Given the description of an element on the screen output the (x, y) to click on. 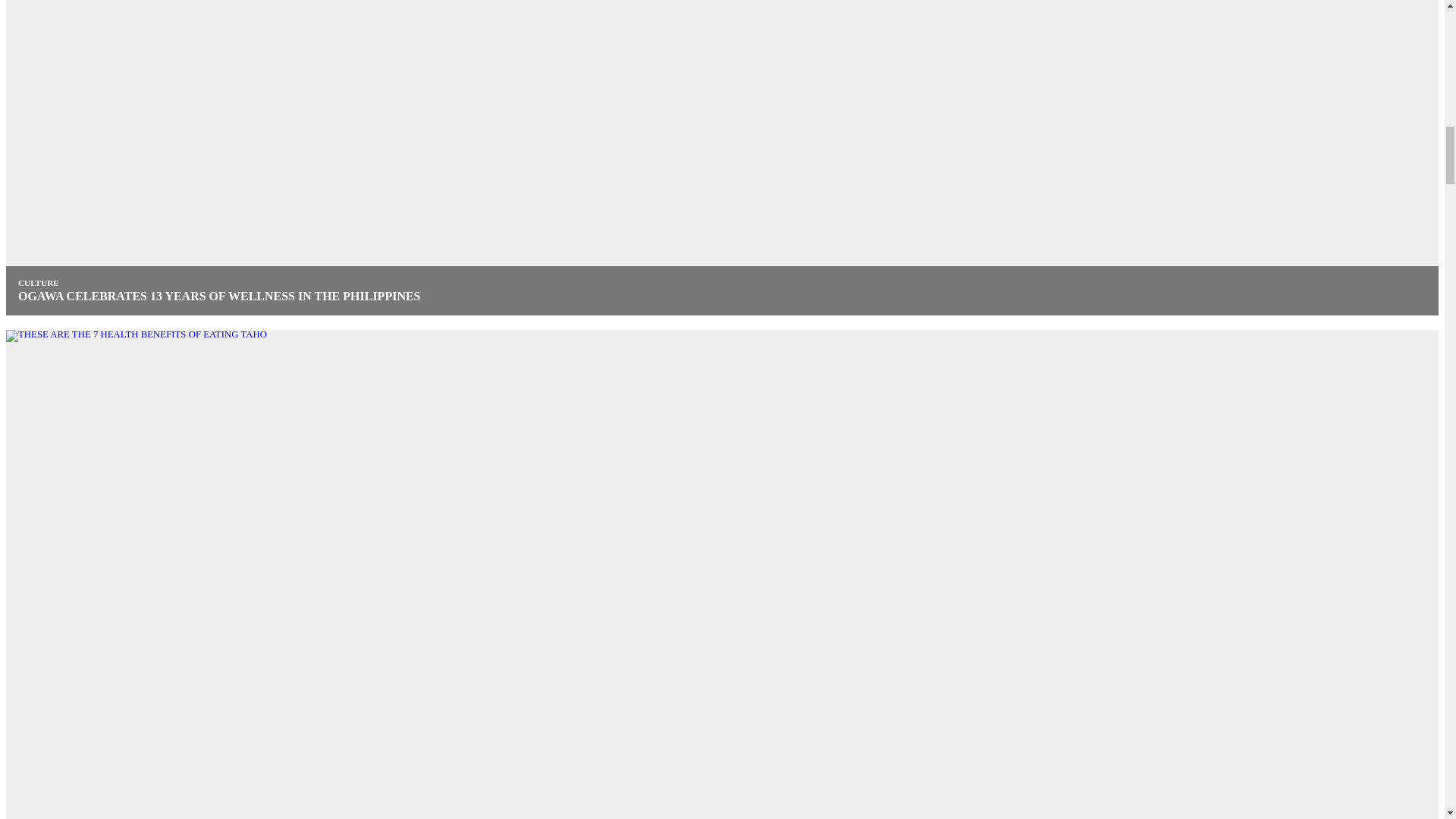
CULTURE (38, 282)
